Given the description of an element on the screen output the (x, y) to click on. 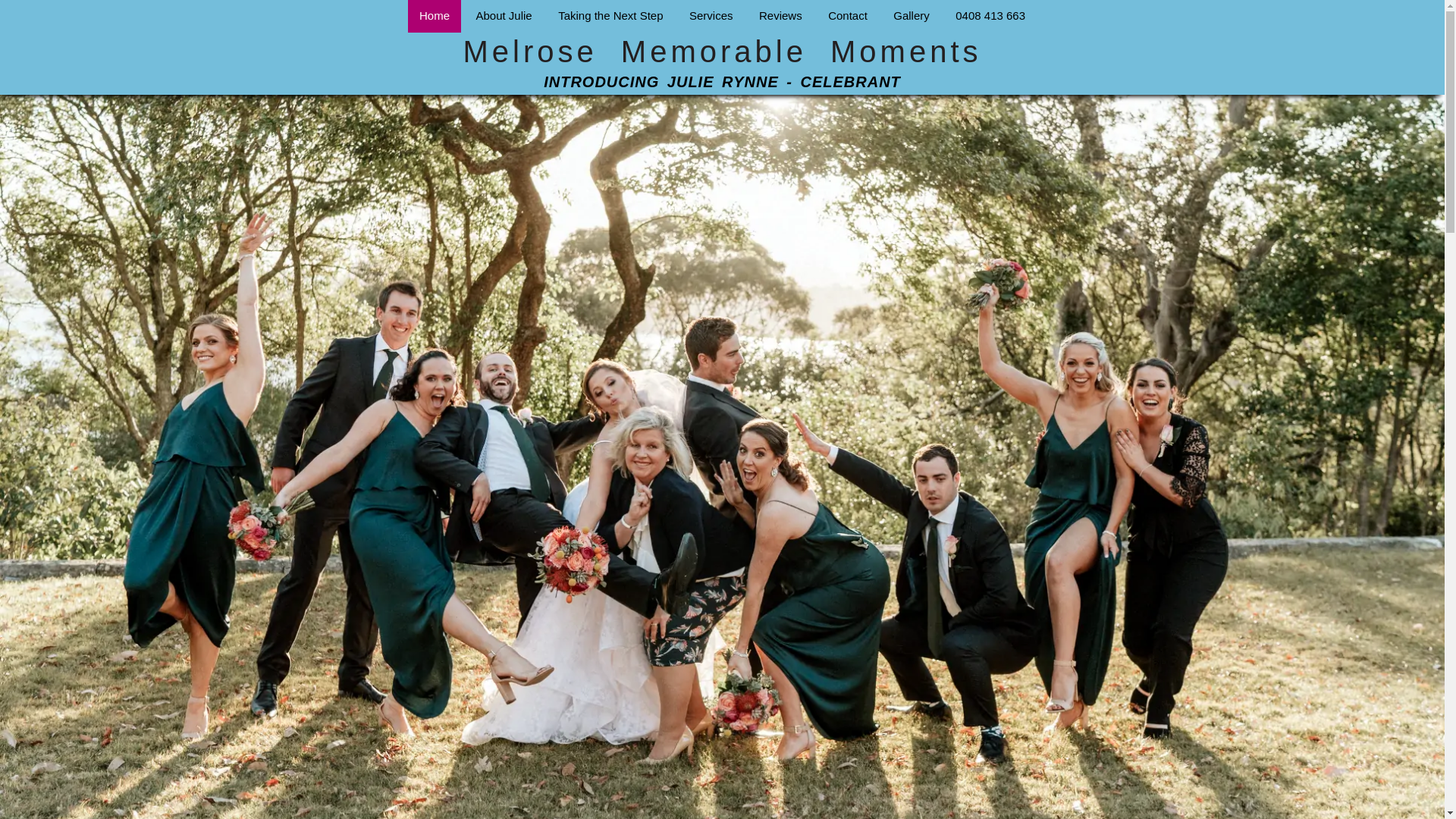
0408 413 663 Element type: text (990, 16)
Taking the Next Step Element type: text (610, 16)
About Julie Element type: text (503, 16)
Services Element type: text (710, 16)
Gallery Element type: text (911, 16)
Contact Element type: text (847, 16)
Reviews Element type: text (780, 16)
Home Element type: text (434, 16)
